Given the description of an element on the screen output the (x, y) to click on. 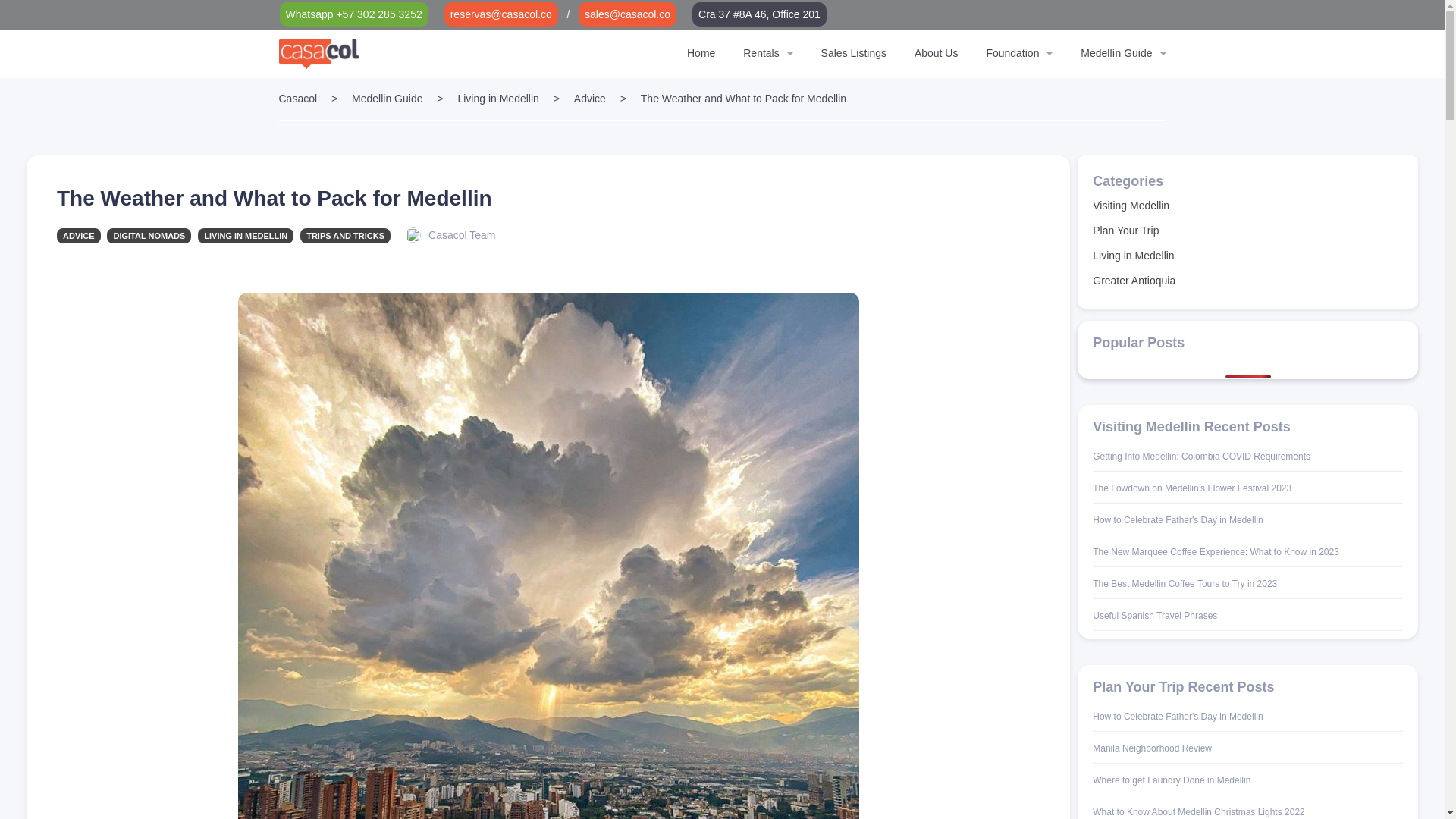
Home (700, 52)
About Us (936, 52)
Rentals (760, 52)
Go to Casacol. (298, 98)
Go to the Advice category archives. (589, 98)
Go to Medellin Guide. (387, 98)
Foundation (1012, 52)
Go to the Living in Medellin category archives. (497, 98)
Sales Listings (853, 52)
